Given the description of an element on the screen output the (x, y) to click on. 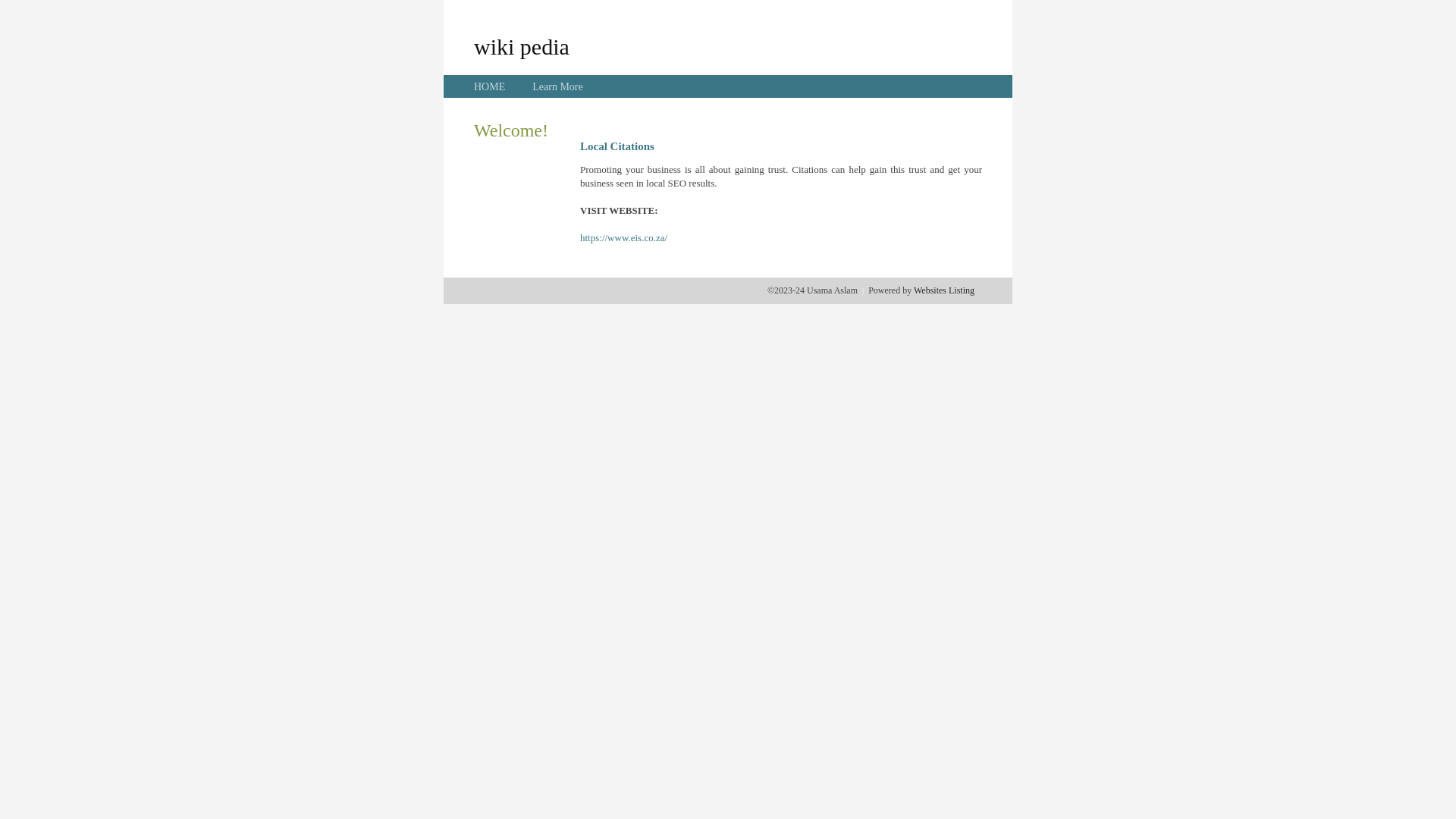
Websites Listing Element type: text (943, 290)
HOME Element type: text (489, 86)
wiki pedia Element type: text (521, 46)
Learn More Element type: text (557, 86)
https://www.eis.co.za/ Element type: text (623, 237)
